Given the description of an element on the screen output the (x, y) to click on. 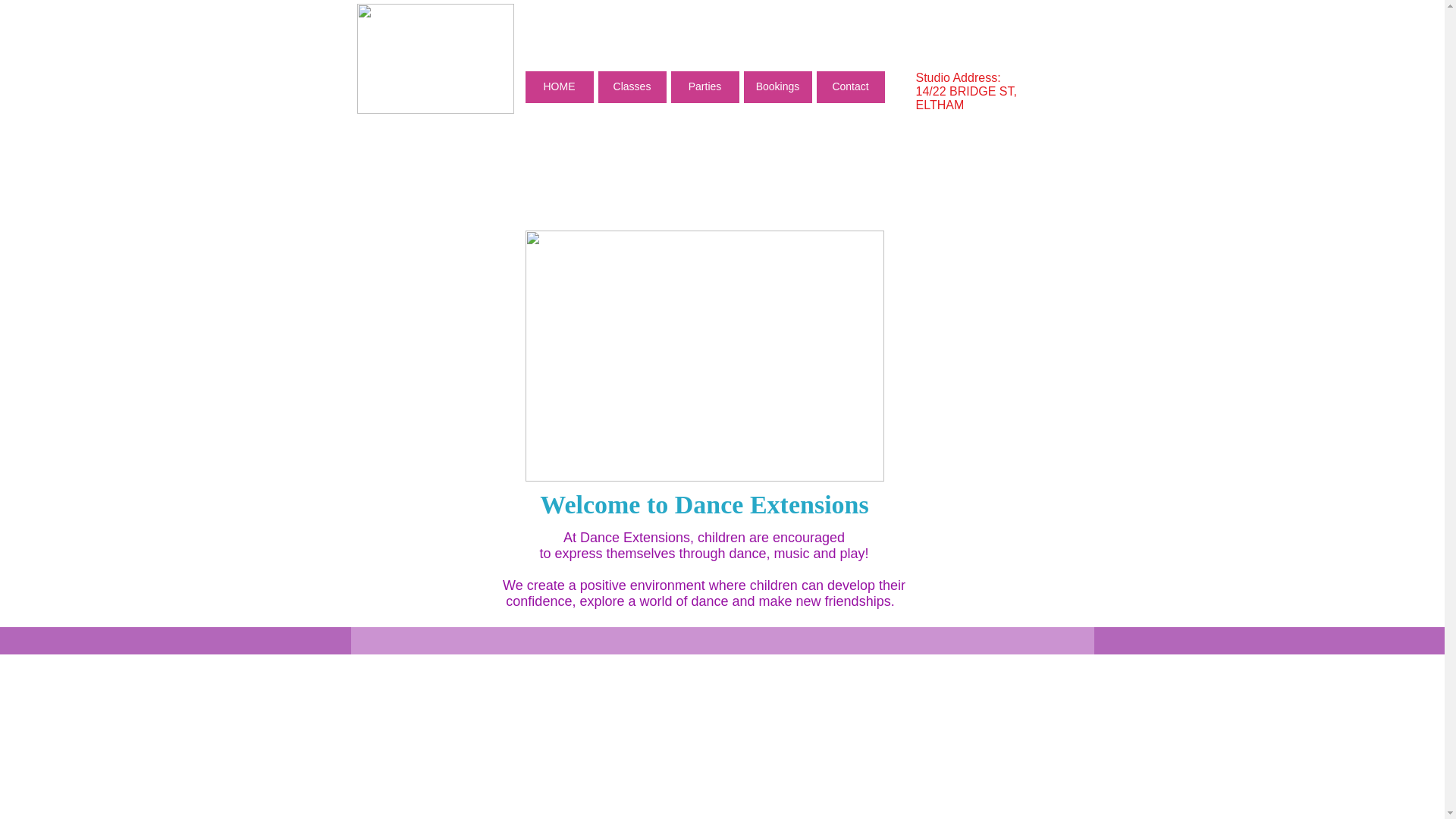
Classes Element type: text (631, 87)
Bookings Element type: text (777, 87)
HOME Element type: text (558, 87)
Contact Element type: text (849, 87)
Parties Element type: text (704, 87)
